Given the description of an element on the screen output the (x, y) to click on. 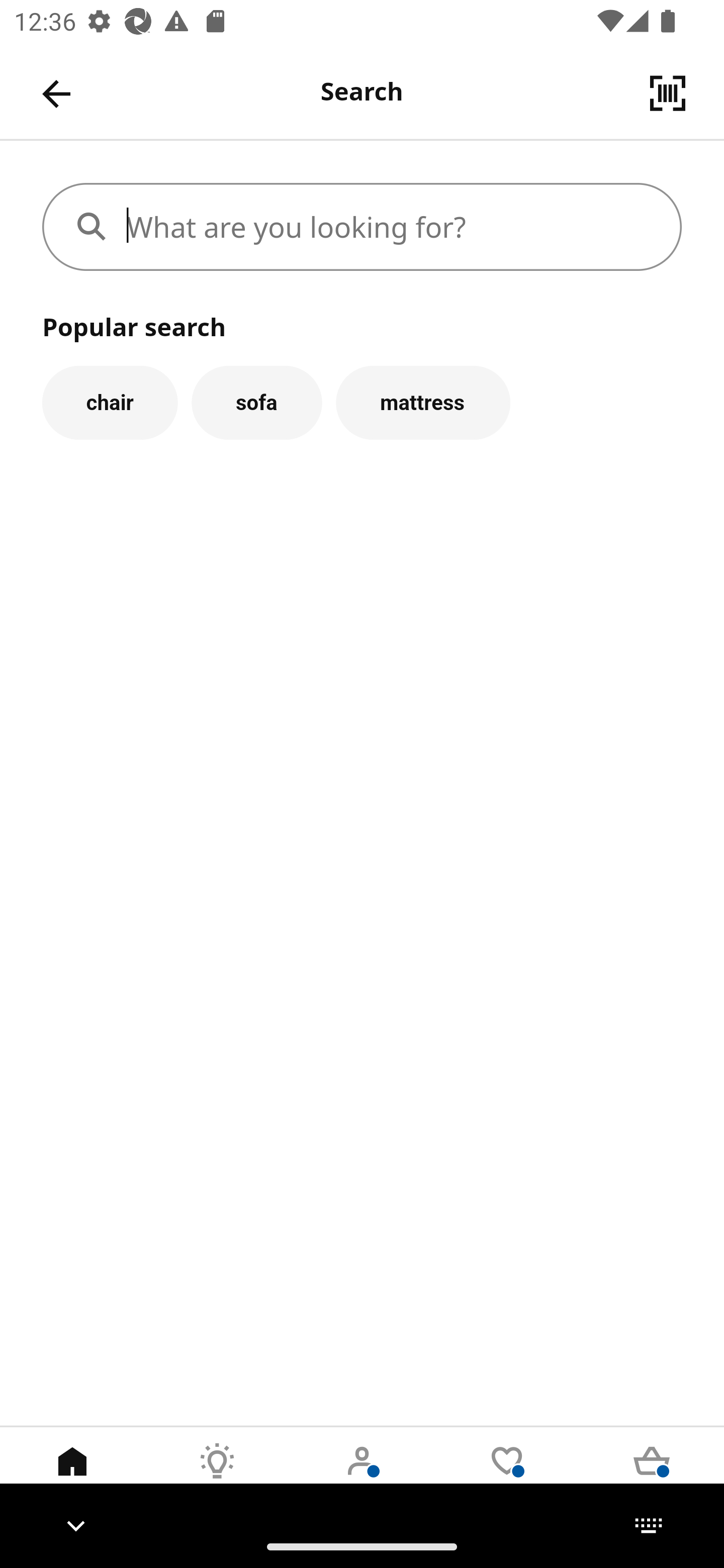
chair (109, 402)
sofa (256, 402)
mattress (423, 402)
Home
Tab 1 of 5 (72, 1476)
Inspirations
Tab 2 of 5 (216, 1476)
User
Tab 3 of 5 (361, 1476)
Wishlist
Tab 4 of 5 (506, 1476)
Cart
Tab 5 of 5 (651, 1476)
